Given the description of an element on the screen output the (x, y) to click on. 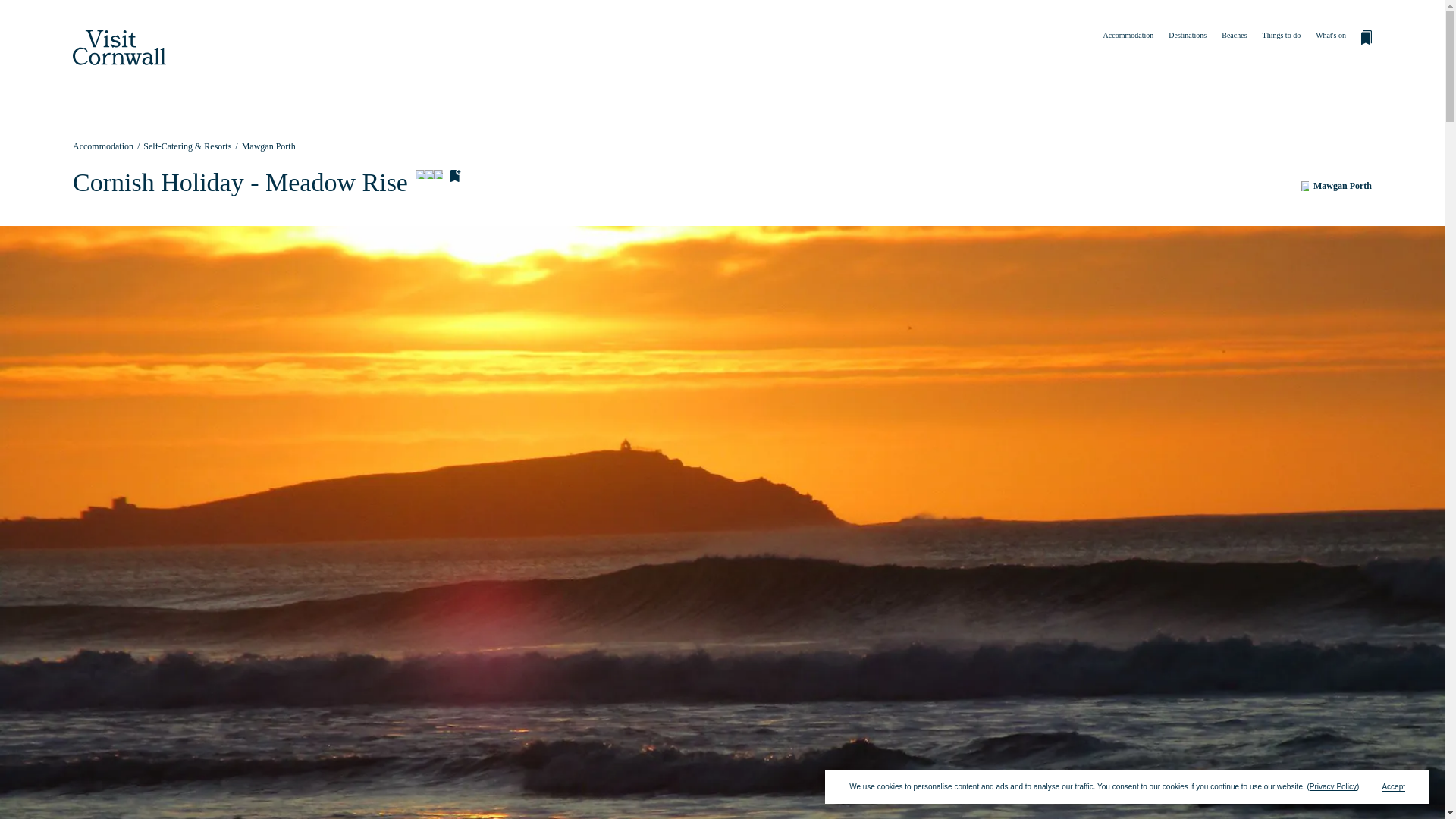
Destinations (1188, 35)
Accept (1393, 786)
Mawgan Porth (1336, 186)
Things to do (1281, 35)
Mawgan Porth (268, 145)
Accommodation (102, 145)
Beaches (1233, 35)
What's on (1330, 35)
Accommodation (1128, 35)
Privacy Policy (1332, 786)
